Given the description of an element on the screen output the (x, y) to click on. 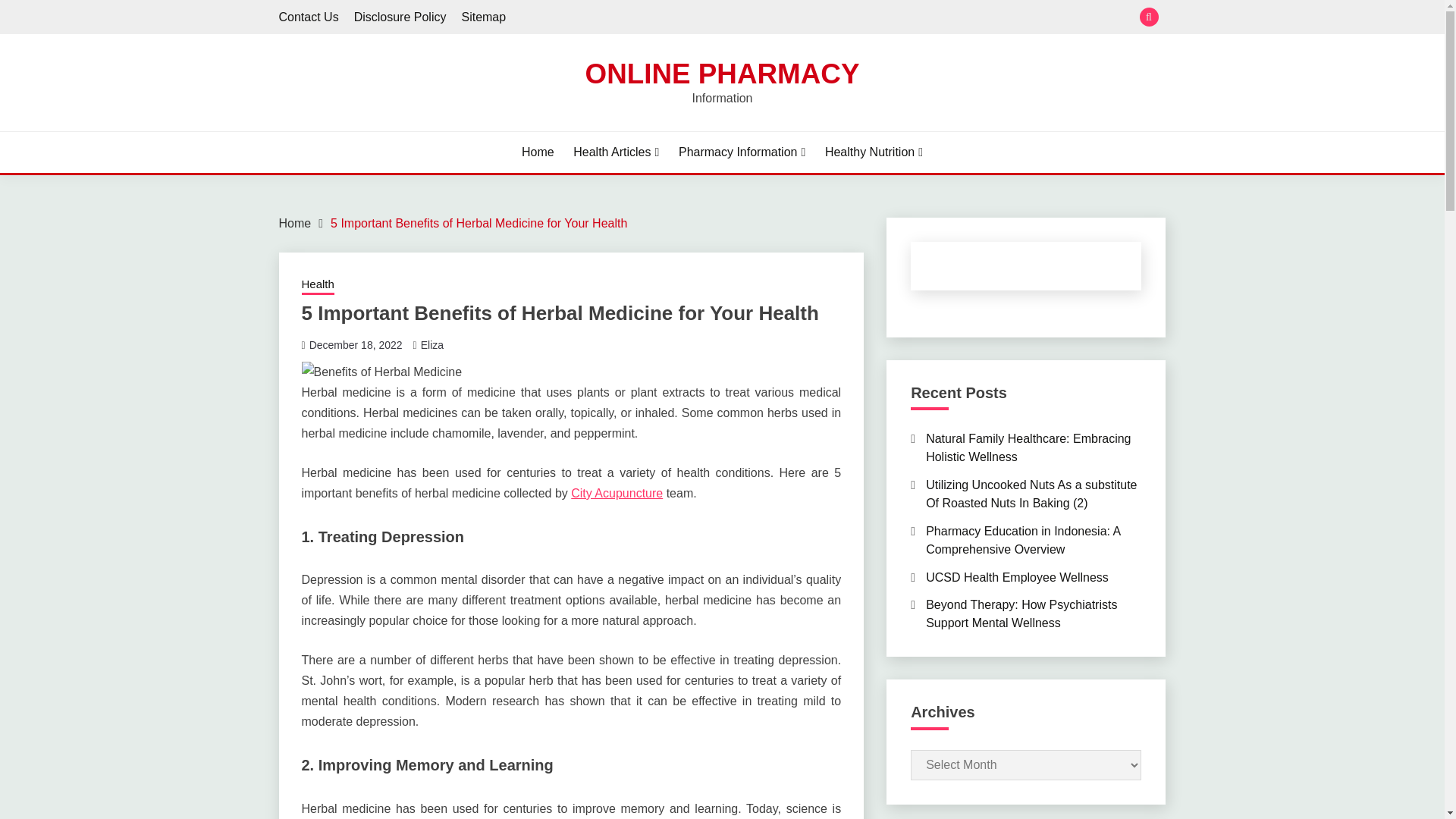
City Acupuncture (616, 492)
Healthy Nutrition (874, 152)
Contact Us (309, 16)
Eliza (432, 345)
Pharmacy Information (741, 152)
Home (295, 223)
Health Articles (616, 152)
Home (537, 152)
Sitemap (483, 16)
Disclosure Policy (399, 16)
